Given the description of an element on the screen output the (x, y) to click on. 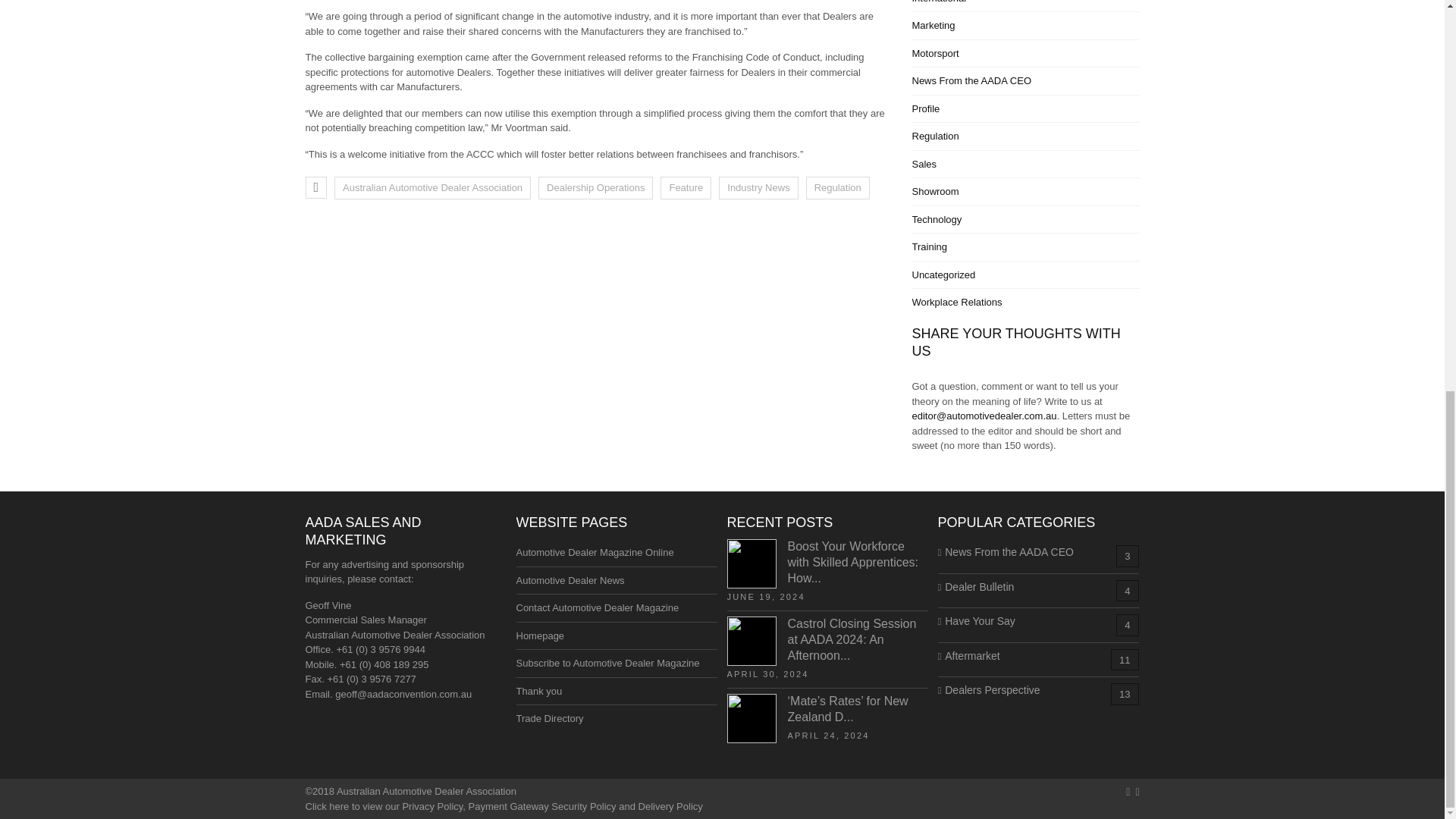
Feature (686, 187)
Regulation (837, 187)
Uncategorized (943, 274)
Training (928, 246)
Workplace Relations (956, 301)
Technology (935, 219)
Industry News (758, 187)
Regulation (934, 135)
Dealership Operations (595, 187)
International (938, 2)
